Given the description of an element on the screen output the (x, y) to click on. 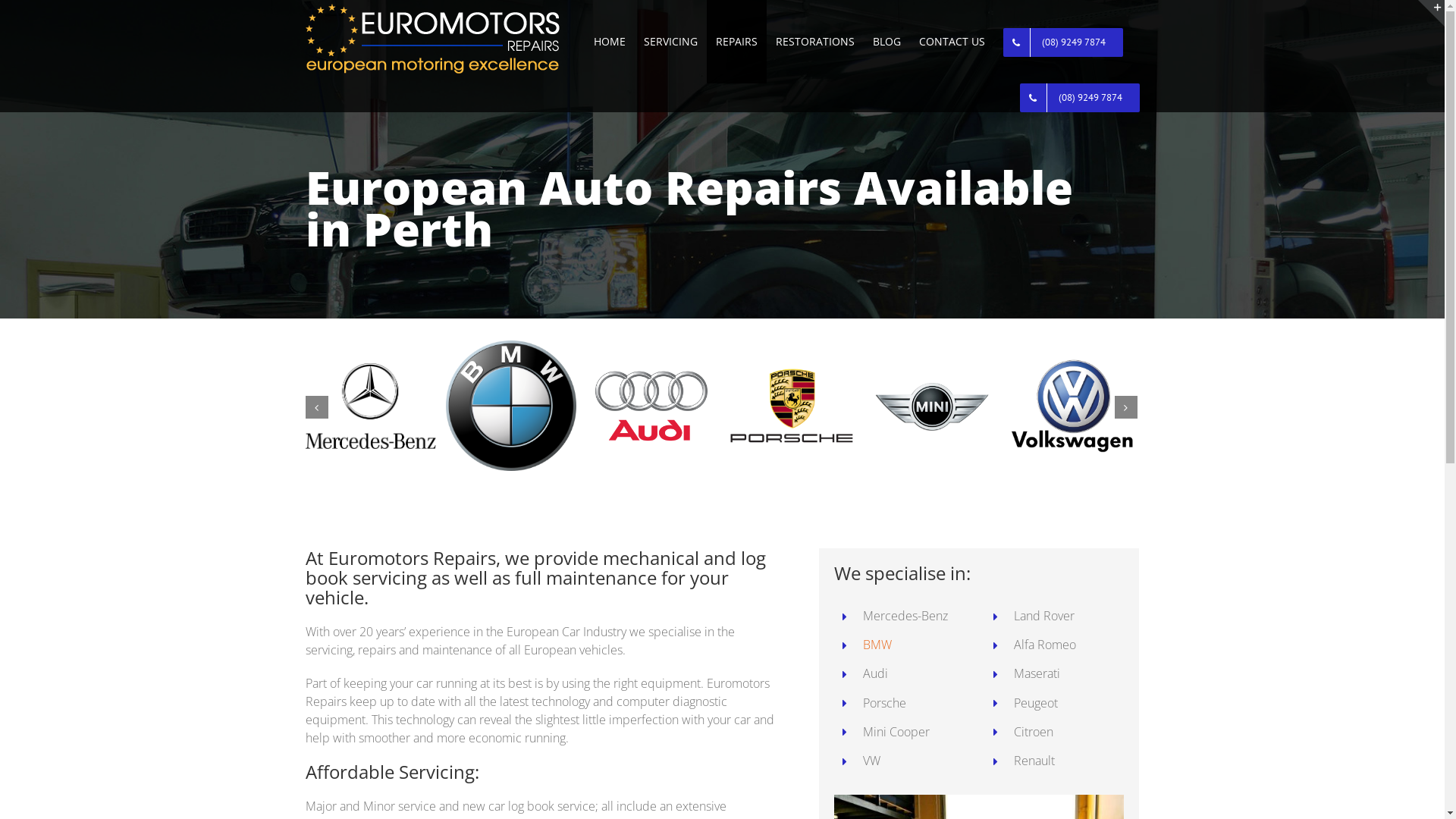
CONTACT US Element type: text (952, 41)
(08) 9249 7874 Element type: text (1062, 41)
BLOG Element type: text (885, 41)
SERVICING Element type: text (669, 41)
REPAIRS Element type: text (736, 41)
(08) 9249 7874 Element type: text (1079, 95)
RESTORATIONS Element type: text (813, 41)
HOME Element type: text (608, 41)
BMW Element type: text (876, 644)
